Given the description of an element on the screen output the (x, y) to click on. 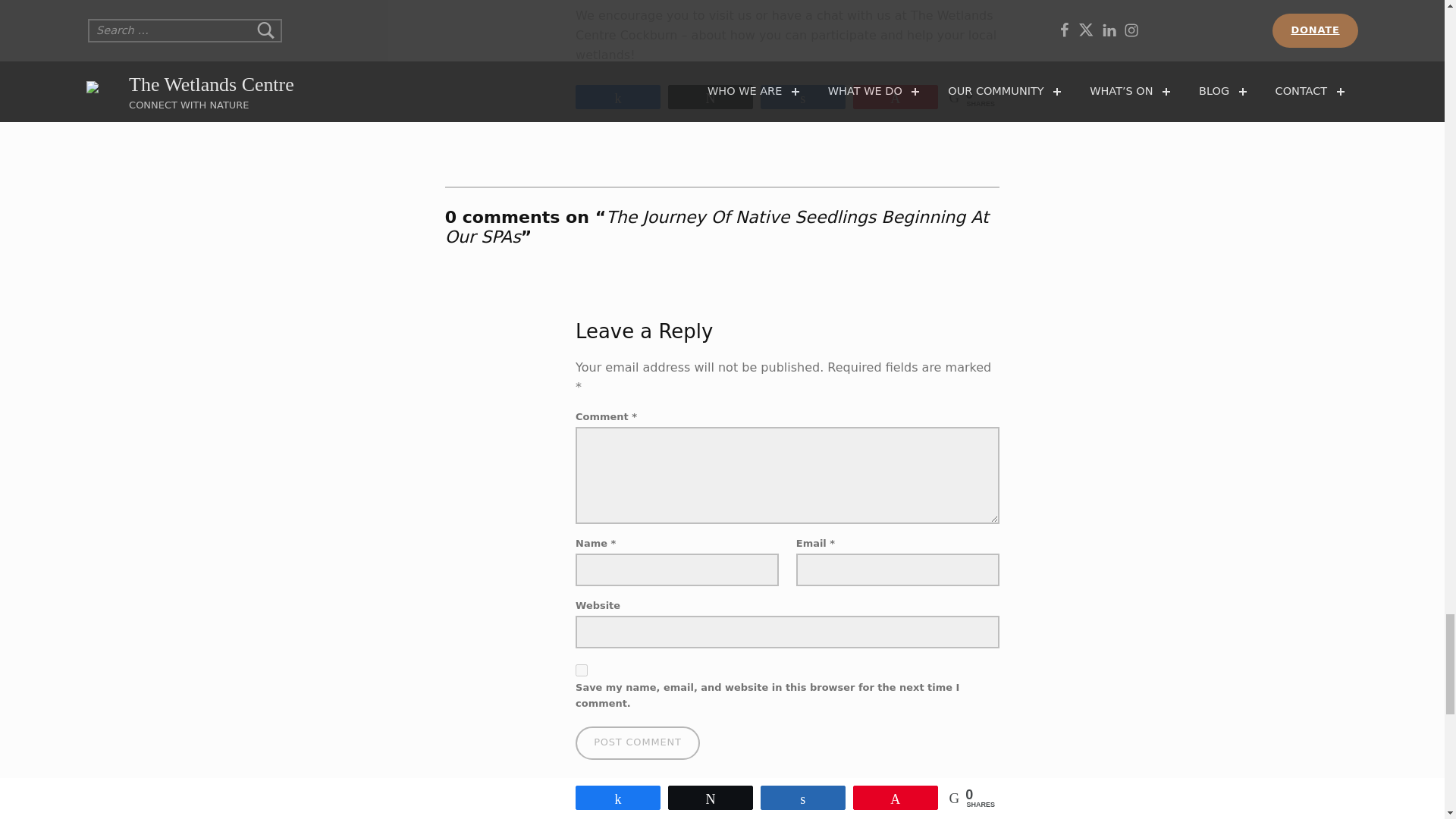
Post Comment (637, 743)
yes (581, 670)
